Given the description of an element on the screen output the (x, y) to click on. 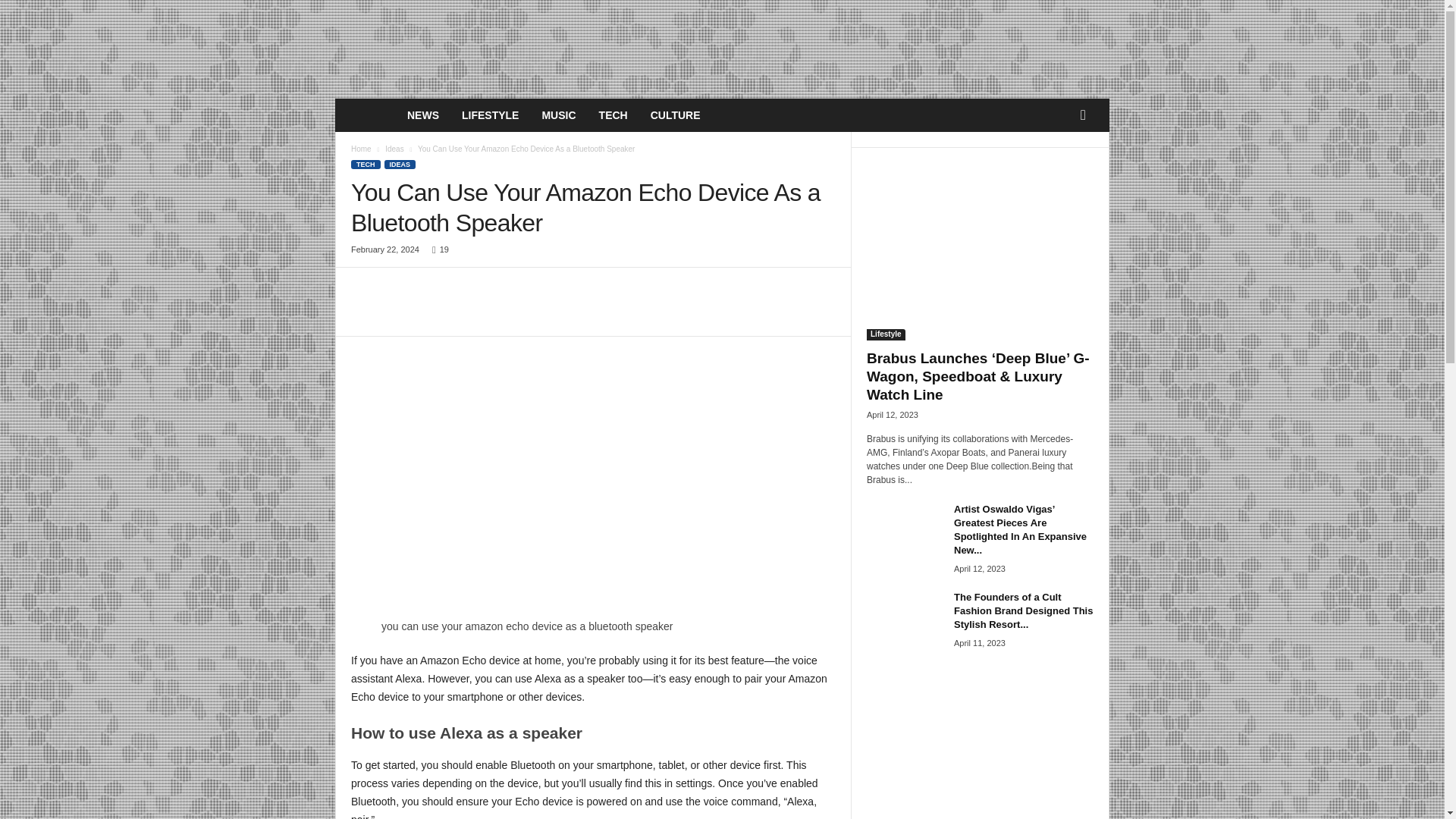
you can use your amazon echo device as a bluetooth speaker (593, 481)
TECH (613, 114)
Utter Buzz!!! (365, 115)
MUSIC (557, 114)
TECH (365, 163)
IDEAS (399, 163)
NEWS (422, 114)
Ideas (394, 148)
Home (360, 148)
LIFESTYLE (489, 114)
View all posts in Ideas (394, 148)
CULTURE (675, 114)
